Given the description of an element on the screen output the (x, y) to click on. 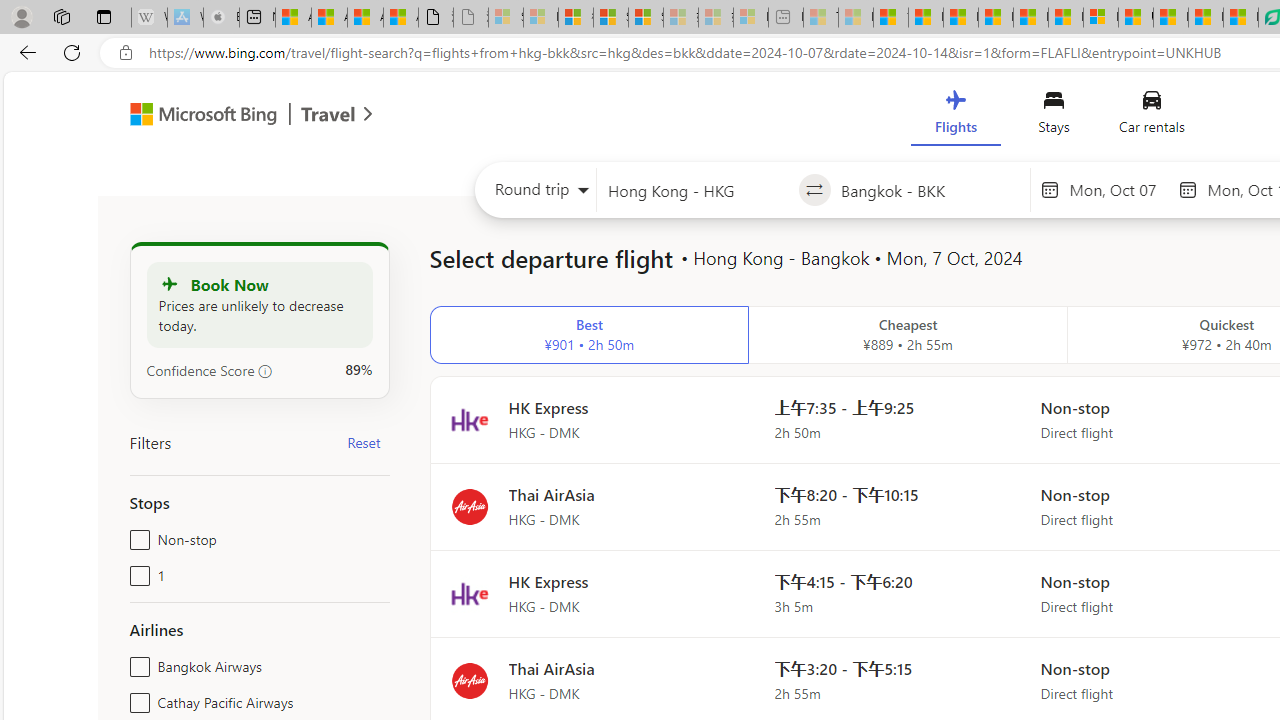
Microsoft Bing (194, 116)
Car rentals (1150, 116)
Top Stories - MSN - Sleeping (820, 17)
Bangkok Airways (136, 662)
Swap source and destination (813, 189)
Info tooltip (265, 371)
US Heat Deaths Soared To Record High Last Year (1135, 17)
Non-stop (136, 535)
Microsoft Bing Travel (229, 116)
Stays (1053, 116)
Class: msft-travel-logo (328, 114)
Leaving from? (697, 190)
